Given the description of an element on the screen output the (x, y) to click on. 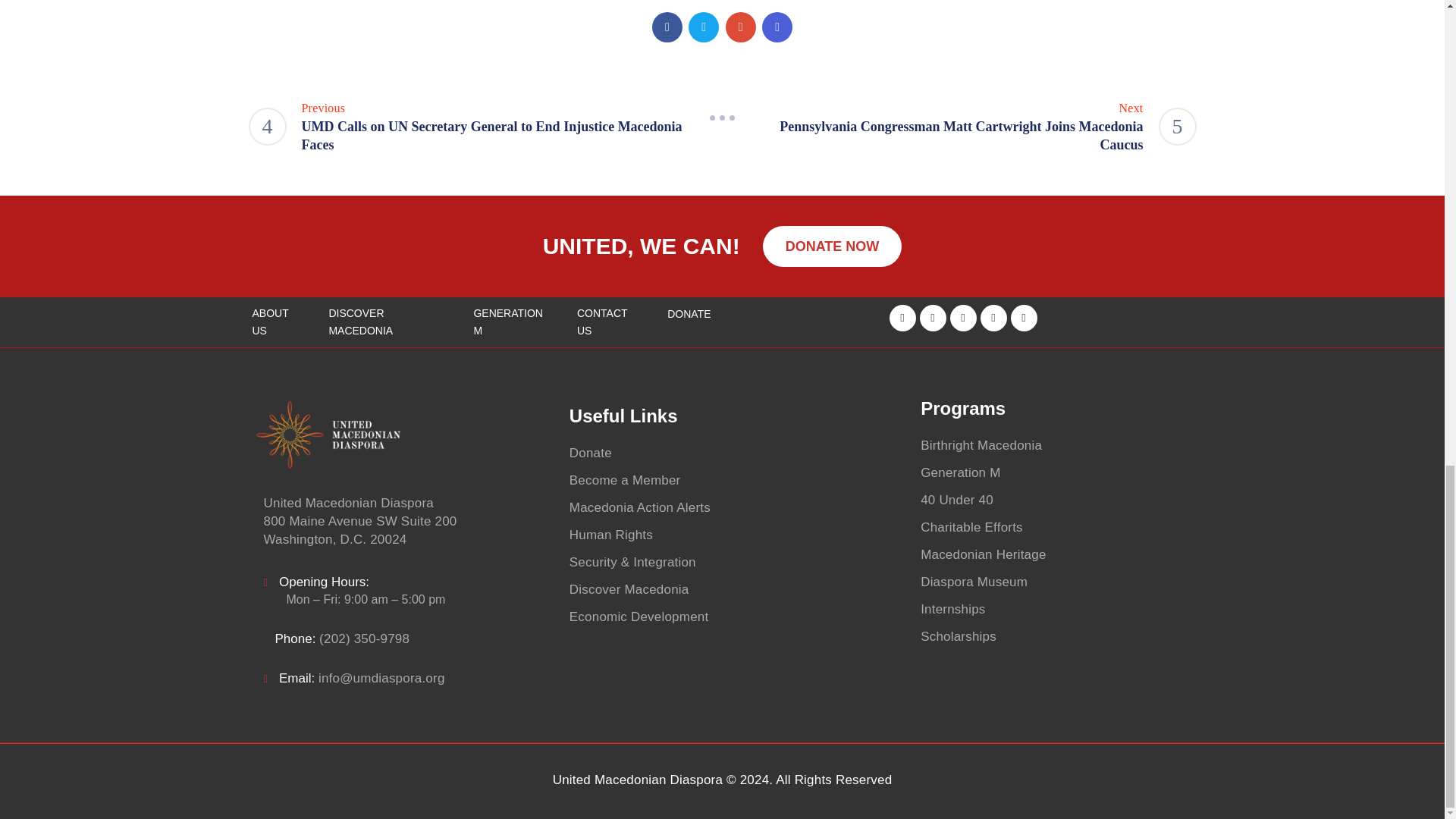
Pinterest (740, 27)
Linkedin (776, 27)
Facebook (667, 27)
Slash (722, 118)
Twitter (703, 27)
